Given the description of an element on the screen output the (x, y) to click on. 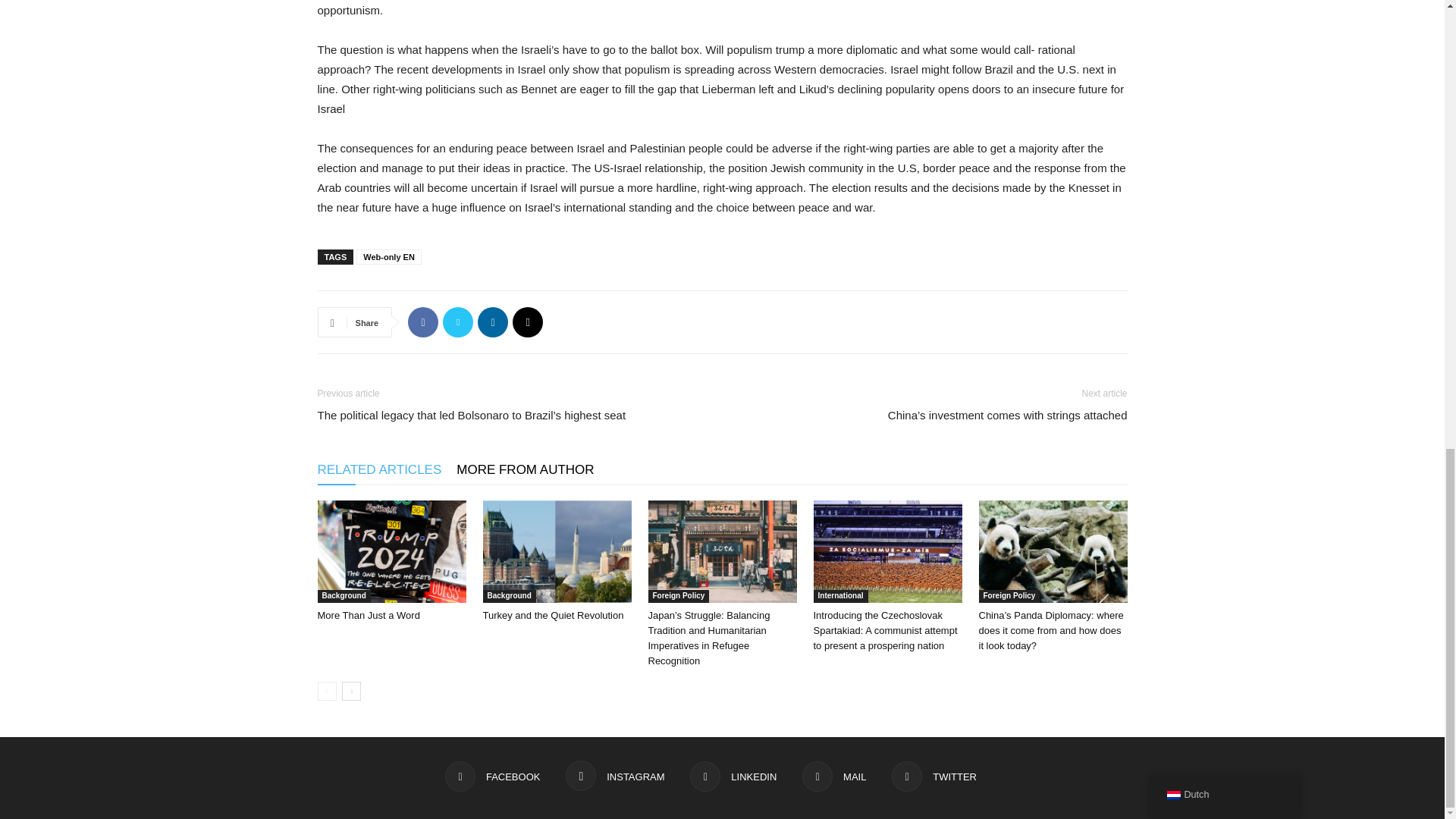
Turkey and the Quiet Revolution (552, 614)
Turkey and the Quiet Revolution (555, 551)
More Than Just a Word (391, 551)
More Than Just a Word (368, 614)
